Given the description of an element on the screen output the (x, y) to click on. 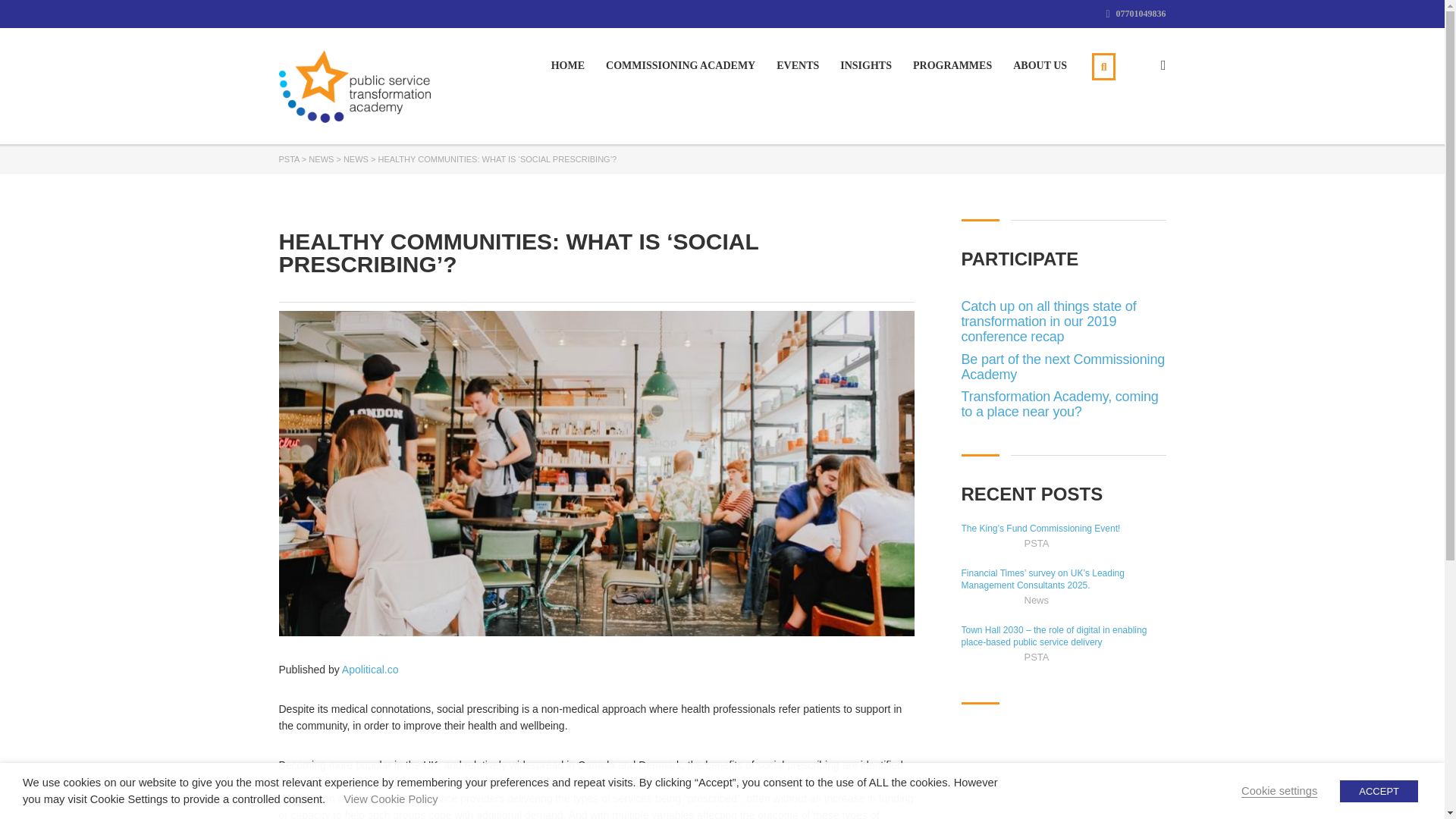
HOME (568, 65)
EVENTS (797, 65)
Go to the News Category archives. (355, 158)
COMMISSIONING ACADEMY (680, 65)
INSIGHTS (865, 65)
Go to News. (320, 158)
Go to PSTA. (289, 158)
